Given the description of an element on the screen output the (x, y) to click on. 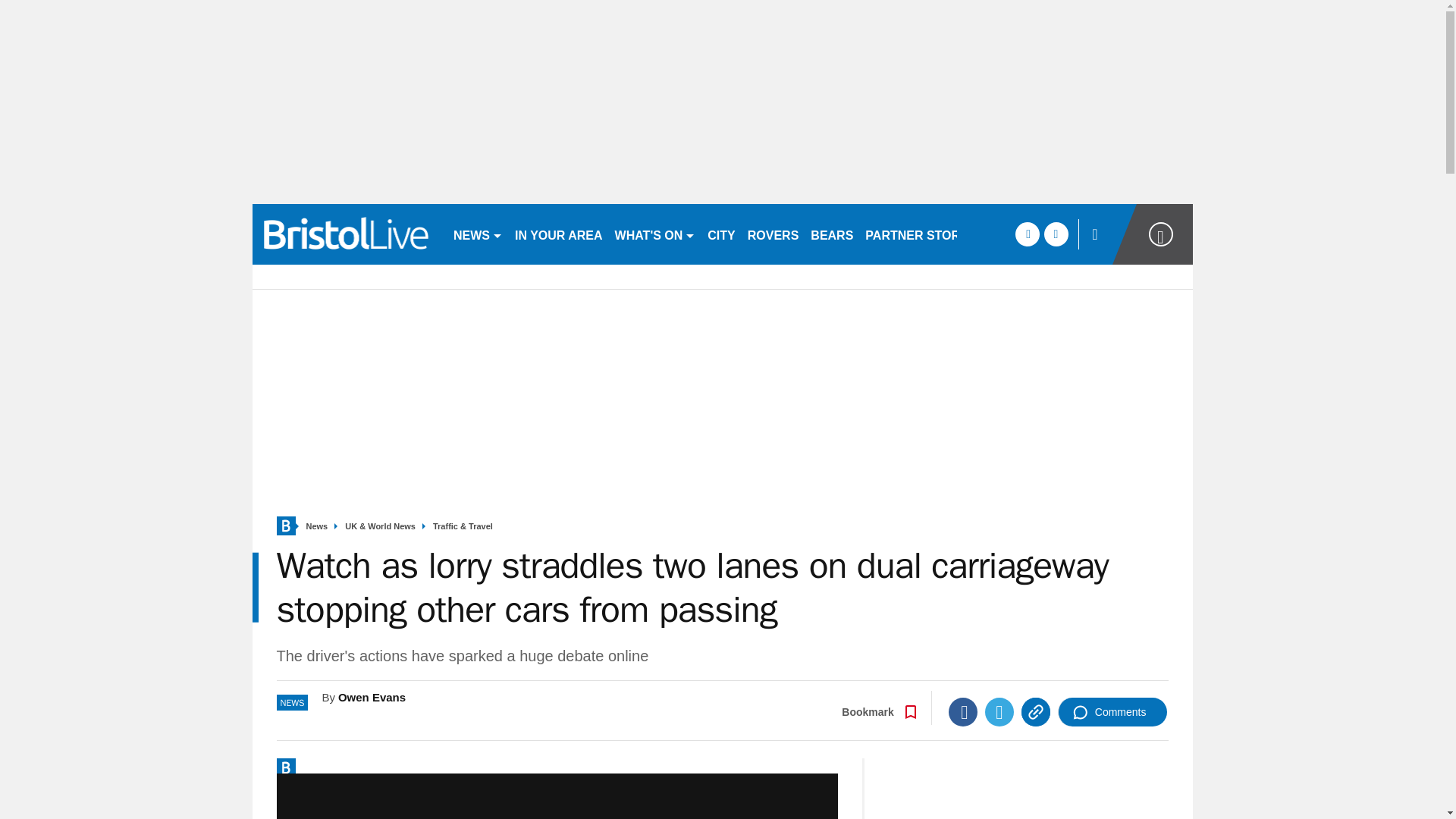
IN YOUR AREA (558, 233)
Facebook (962, 711)
ROVERS (773, 233)
Comments (1112, 711)
PARTNER STORIES (922, 233)
bristolpost (345, 233)
Twitter (999, 711)
NEWS (477, 233)
twitter (1055, 233)
BEARS (832, 233)
